Given the description of an element on the screen output the (x, y) to click on. 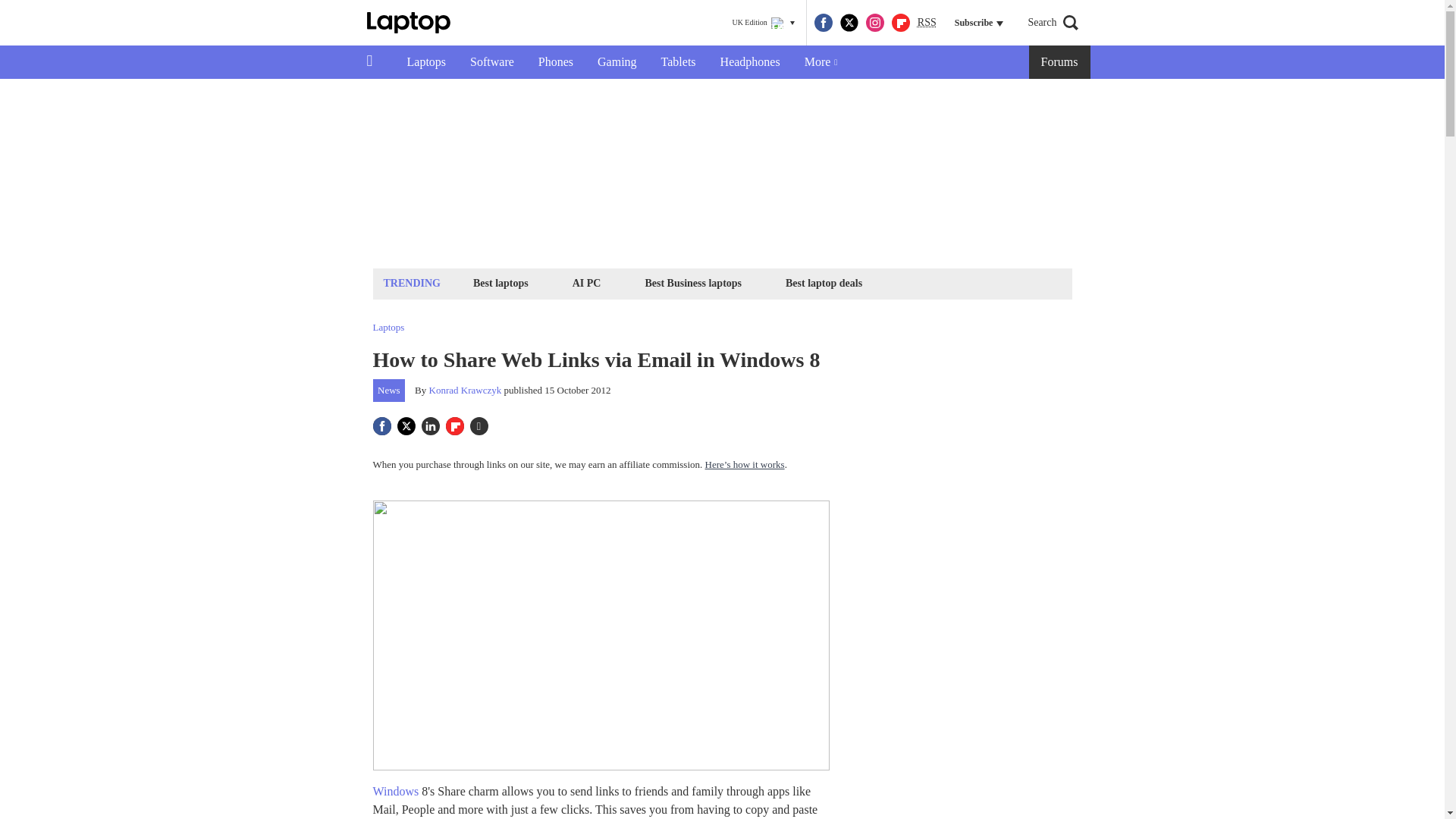
Best laptop deals (823, 282)
Headphones (749, 61)
Phones (555, 61)
Best laptops (500, 282)
Tablets (678, 61)
AI PC (587, 282)
Forums (1059, 61)
UK Edition (762, 22)
RSS (926, 22)
Gaming (617, 61)
Best Business laptops (692, 282)
Software (491, 61)
Laptops (426, 61)
Really Simple Syndication (926, 21)
